Given the description of an element on the screen output the (x, y) to click on. 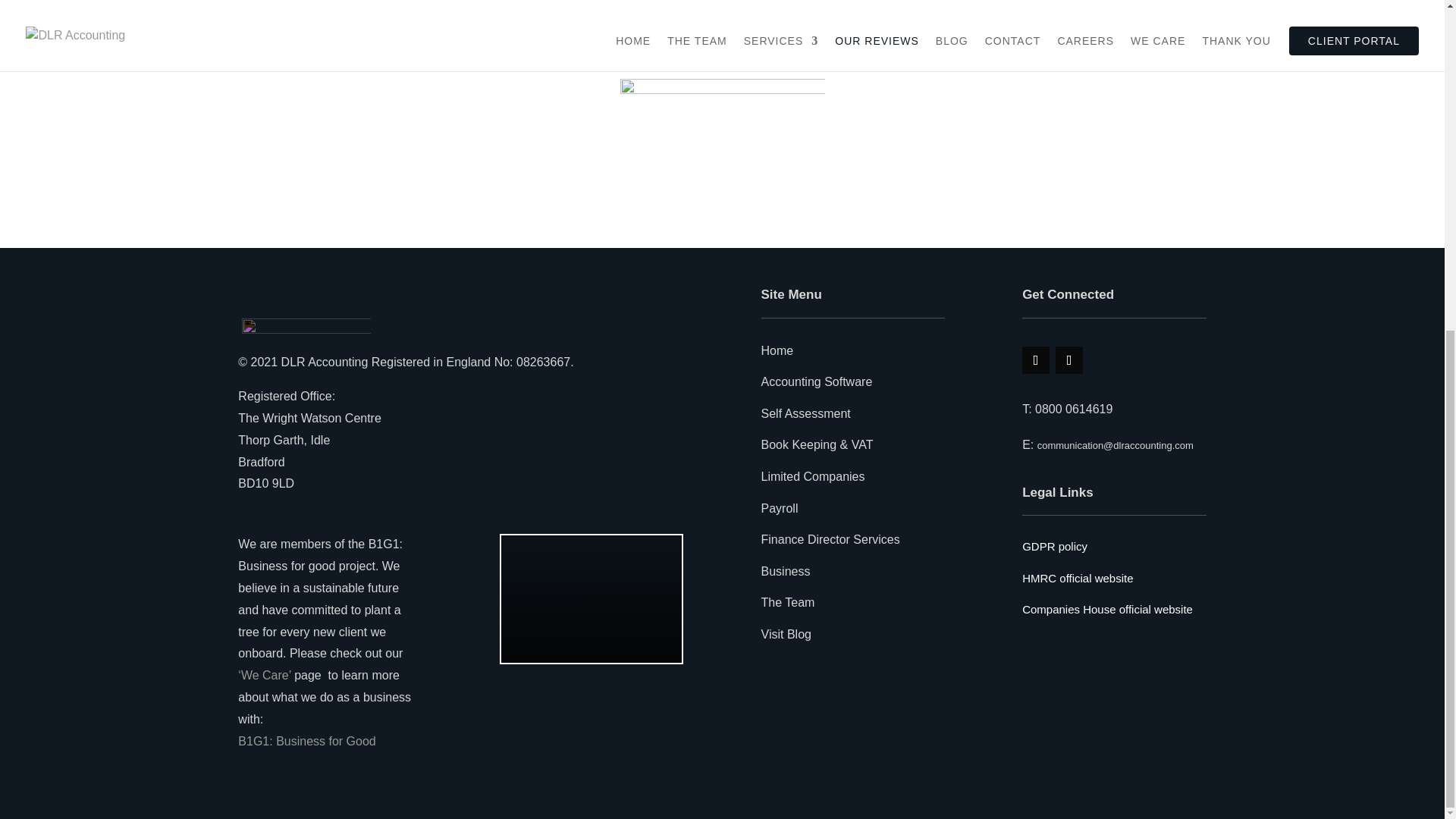
GDPR policy (1054, 545)
google-review-button (722, 115)
Follow on Facebook (1035, 359)
Companies House official website (1107, 608)
HMRC official website (1077, 577)
Follow on LinkedIn (1069, 359)
DLR Logo menu (306, 330)
review us on (351, 0)
B1G1: Business for Good (306, 740)
